Given the description of an element on the screen output the (x, y) to click on. 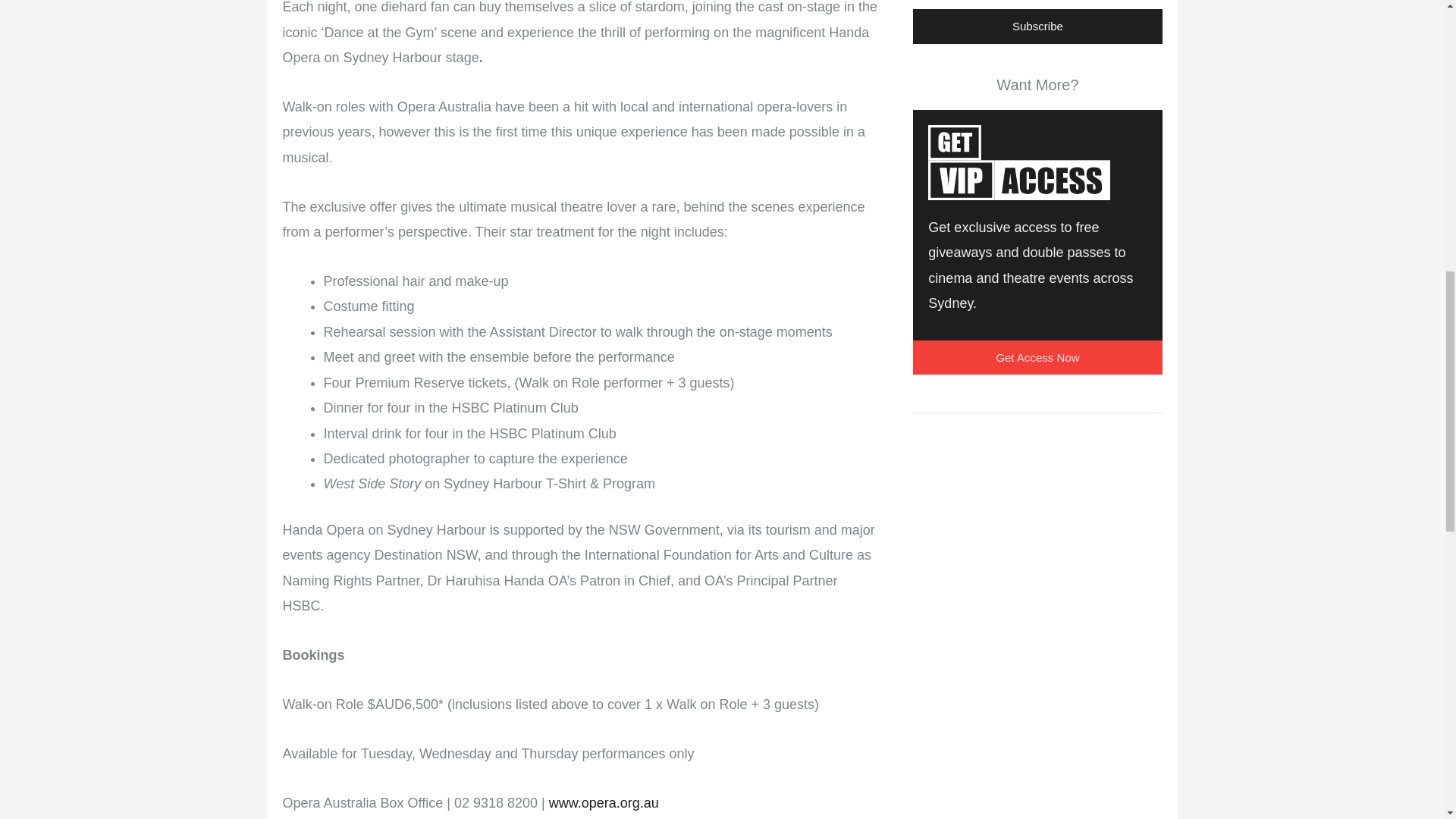
www.opera.org.au (603, 802)
